Given the description of an element on the screen output the (x, y) to click on. 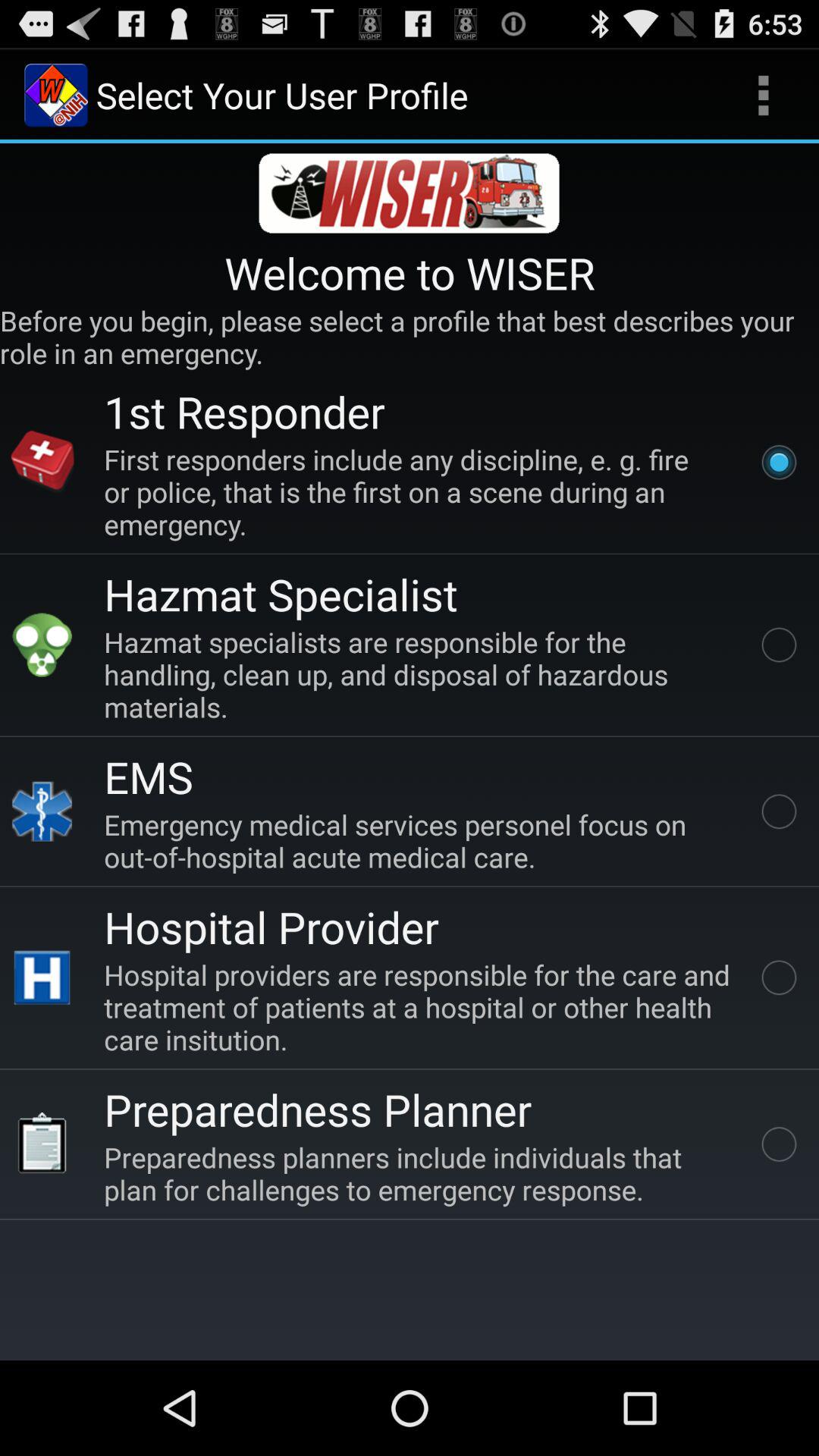
scroll to the preparedness planners include icon (420, 1173)
